Given the description of an element on the screen output the (x, y) to click on. 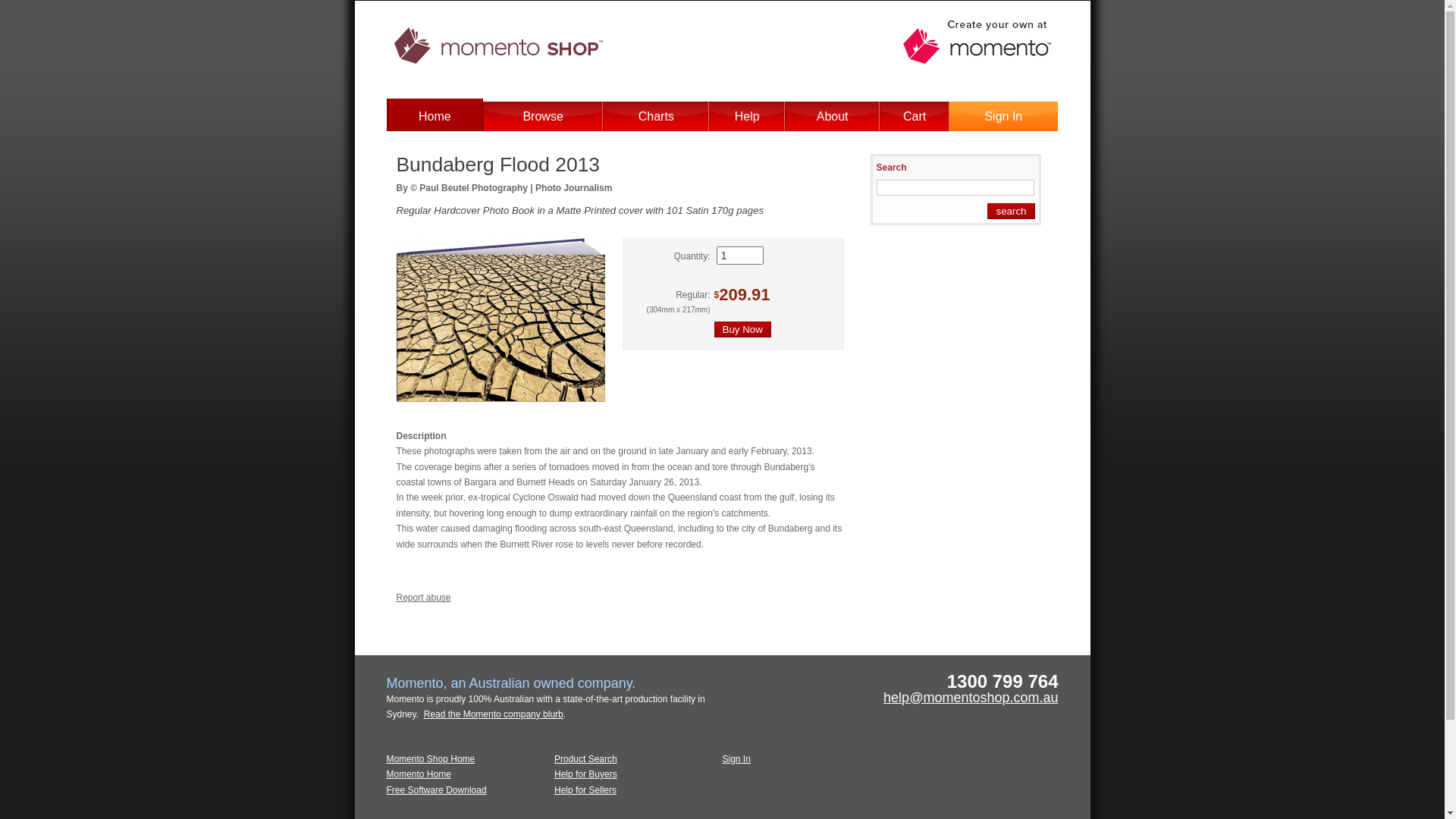
Cart Element type: text (914, 115)
Sign In Element type: text (1003, 115)
buy and sell premium quality photo products Element type: hover (534, 79)
Sign In Element type: text (735, 758)
Home Element type: text (434, 115)
Momento Home Element type: text (418, 773)
Browse Element type: text (542, 115)
Read the Momento company blurb Element type: text (493, 714)
Momento Shop Home Element type: text (430, 758)
Product Search Element type: text (585, 758)
Charts Element type: text (656, 115)
Help Element type: text (746, 115)
search Element type: text (1010, 211)
About Element type: text (832, 115)
Buy Now Element type: text (742, 329)
Help for Sellers Element type: text (585, 789)
1300 799 764 Element type: text (1002, 684)
Help for Buyers Element type: text (585, 773)
Free Software Download Element type: text (436, 789)
help@momentoshop.com.au Element type: text (970, 697)
